Given the description of an element on the screen output the (x, y) to click on. 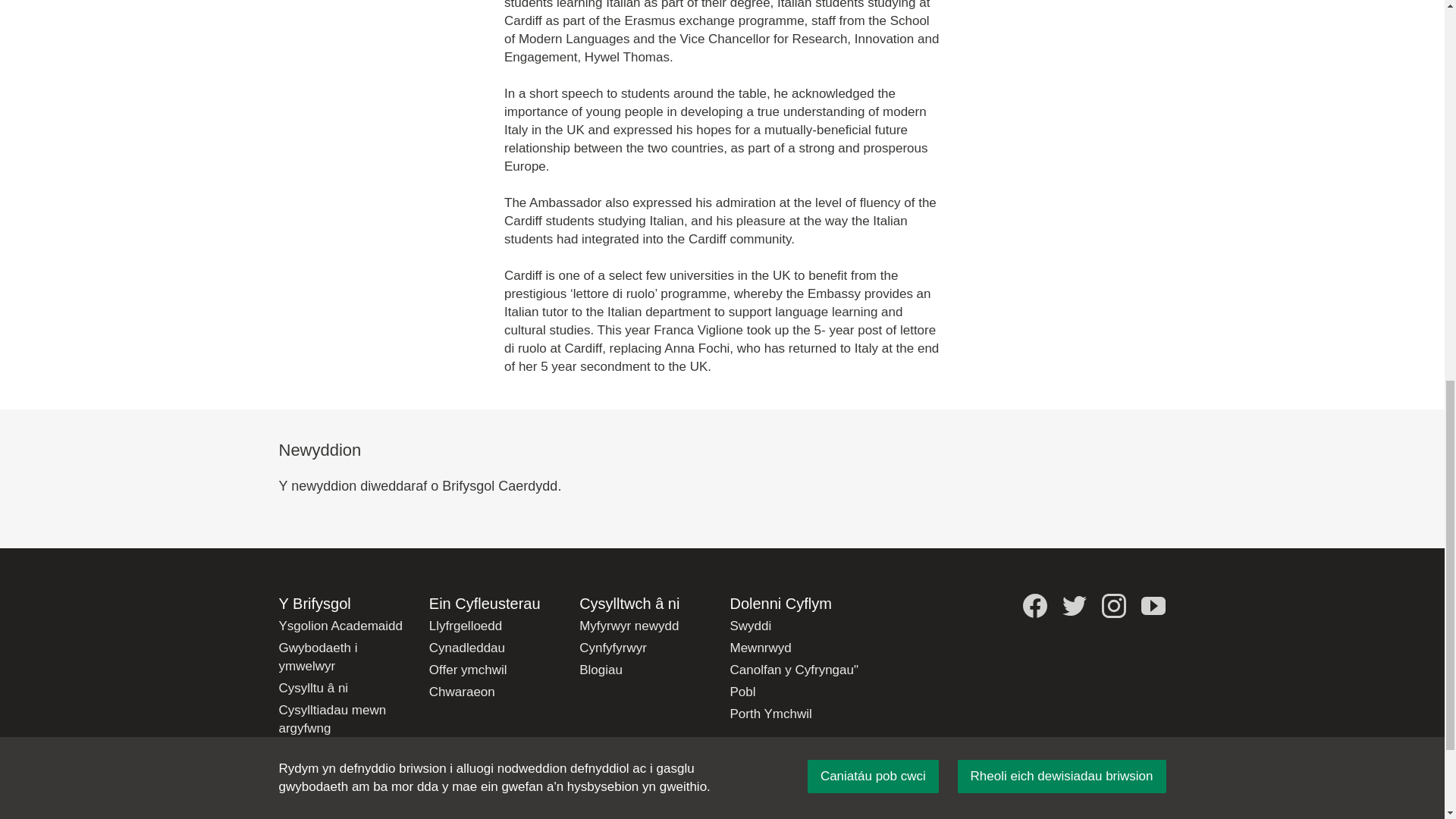
twitter no background icon (1074, 605)
Youtube (1153, 605)
facebook (1034, 605)
instagram (1113, 605)
